Given the description of an element on the screen output the (x, y) to click on. 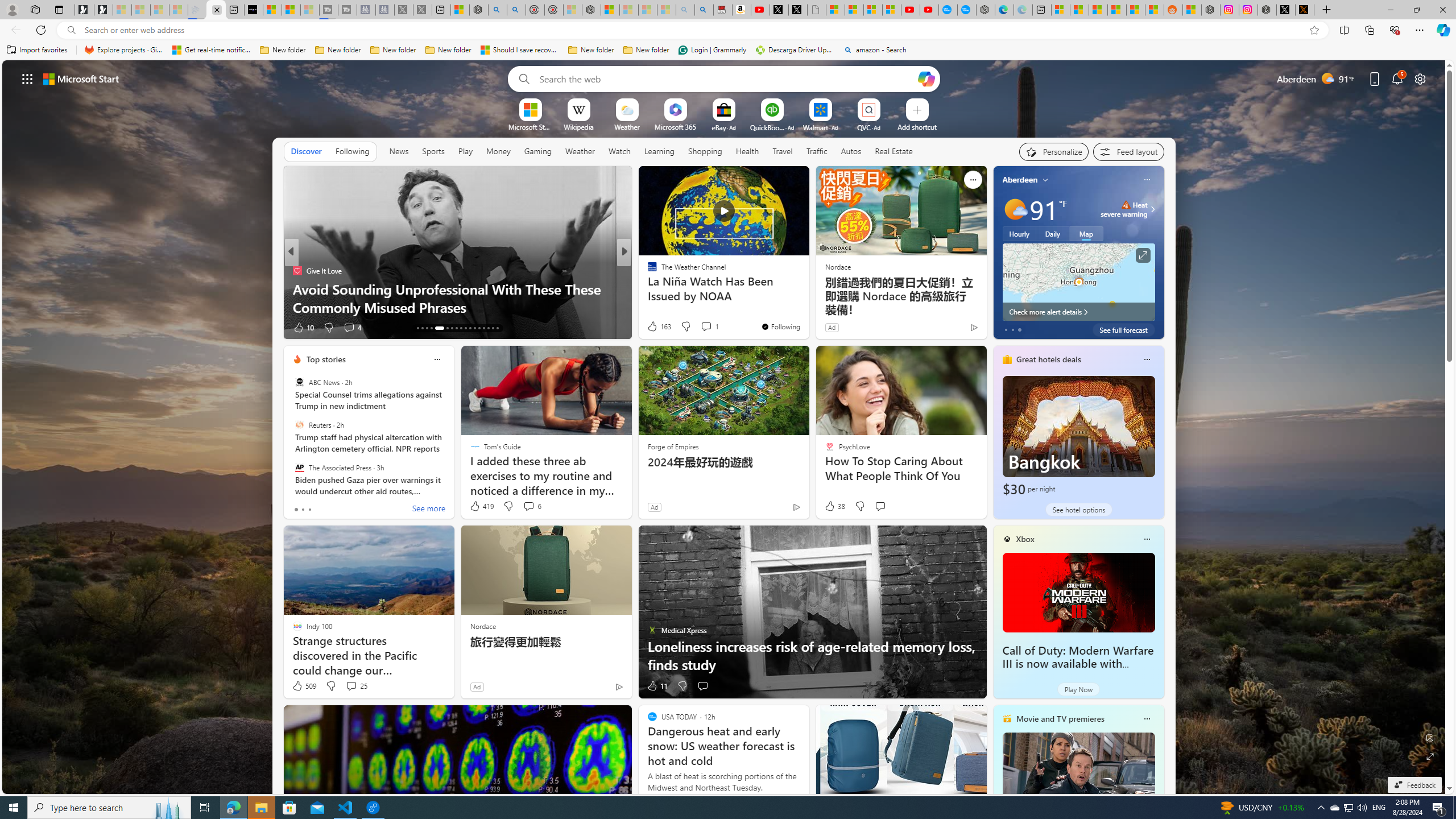
AutomationID: tab-23 (470, 328)
AutomationID: tab-20 (456, 328)
Shanghai, China hourly forecast | Microsoft Weather (1098, 9)
Amazon Echo Dot PNG - Search Images (703, 9)
Great hotels deals (1048, 359)
AutomationID: backgroundImagePicture (723, 426)
Newsletter Sign Up (102, 9)
AutomationID: tab-22 (465, 328)
129 Like (654, 327)
Nordace (@NordaceOfficial) / X (1285, 9)
Descarga Driver Updater (794, 49)
